Given the description of an element on the screen output the (x, y) to click on. 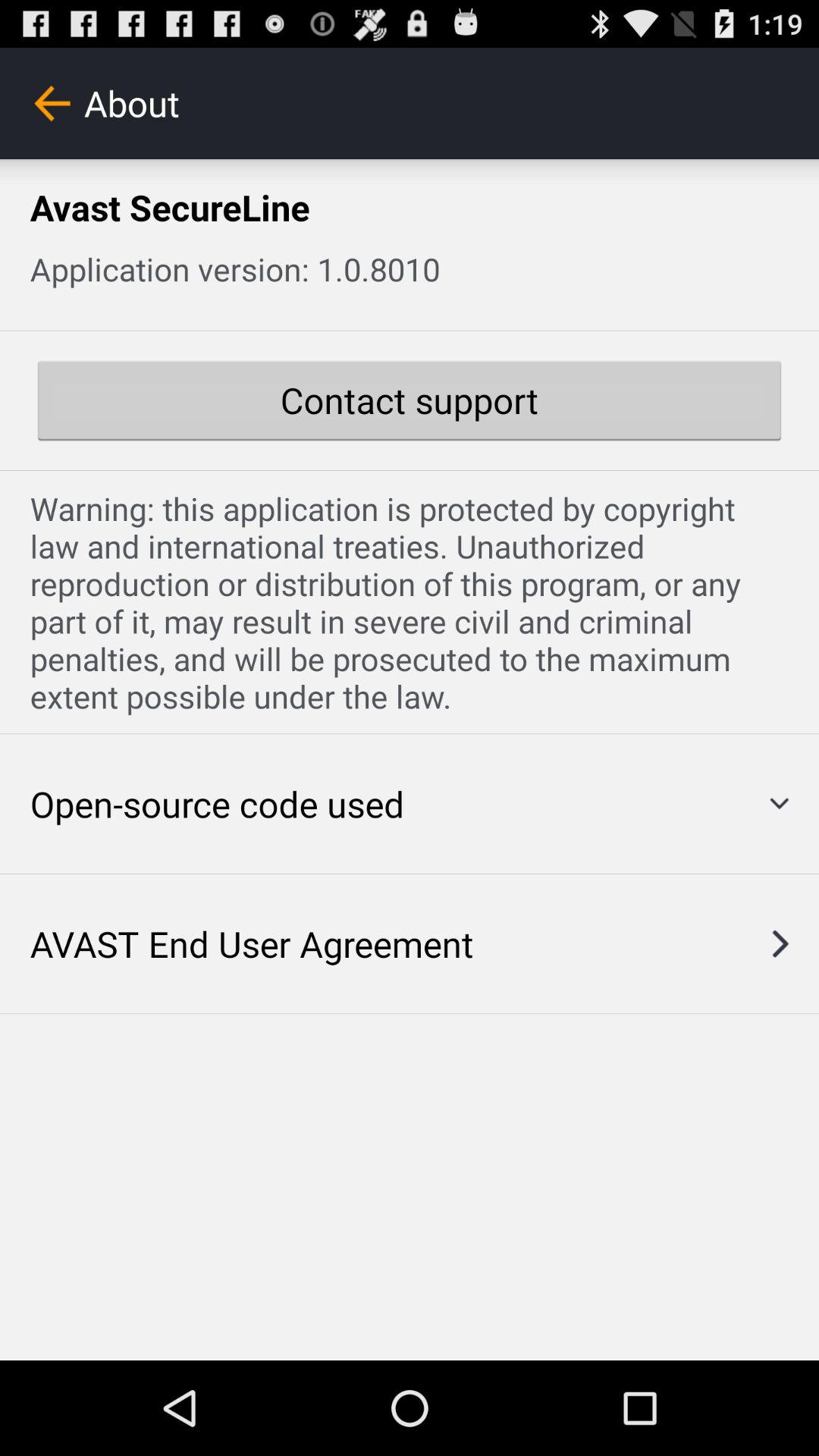
scroll to contact support (409, 400)
